Given the description of an element on the screen output the (x, y) to click on. 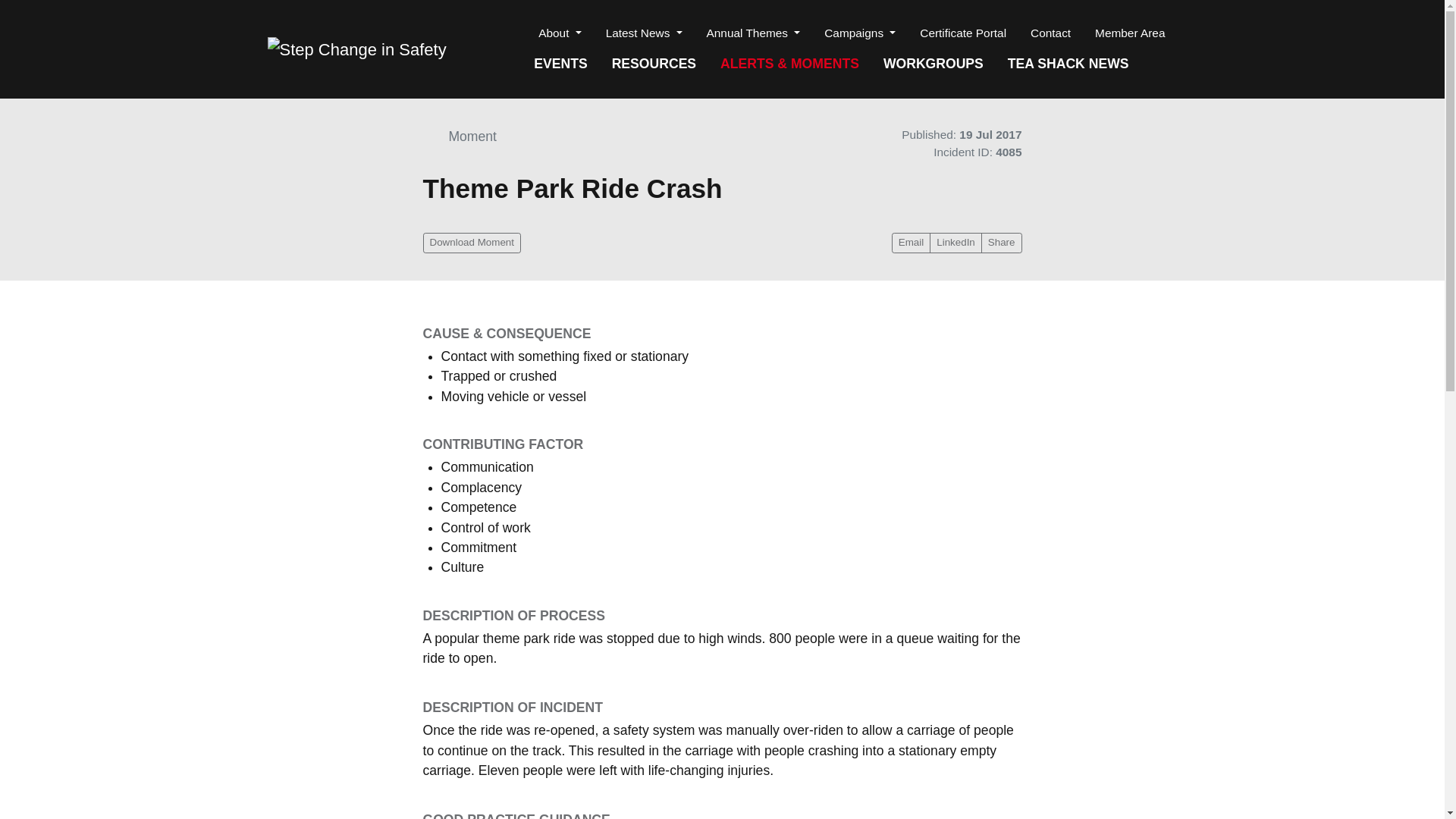
Safety-moment-theme-park-crash.pptx (472, 242)
Latest News (644, 32)
About (558, 32)
Share on LinkedIn (955, 242)
Campaigns (859, 32)
Share this moment via Email (910, 242)
Annual Themes (753, 32)
